Given the description of an element on the screen output the (x, y) to click on. 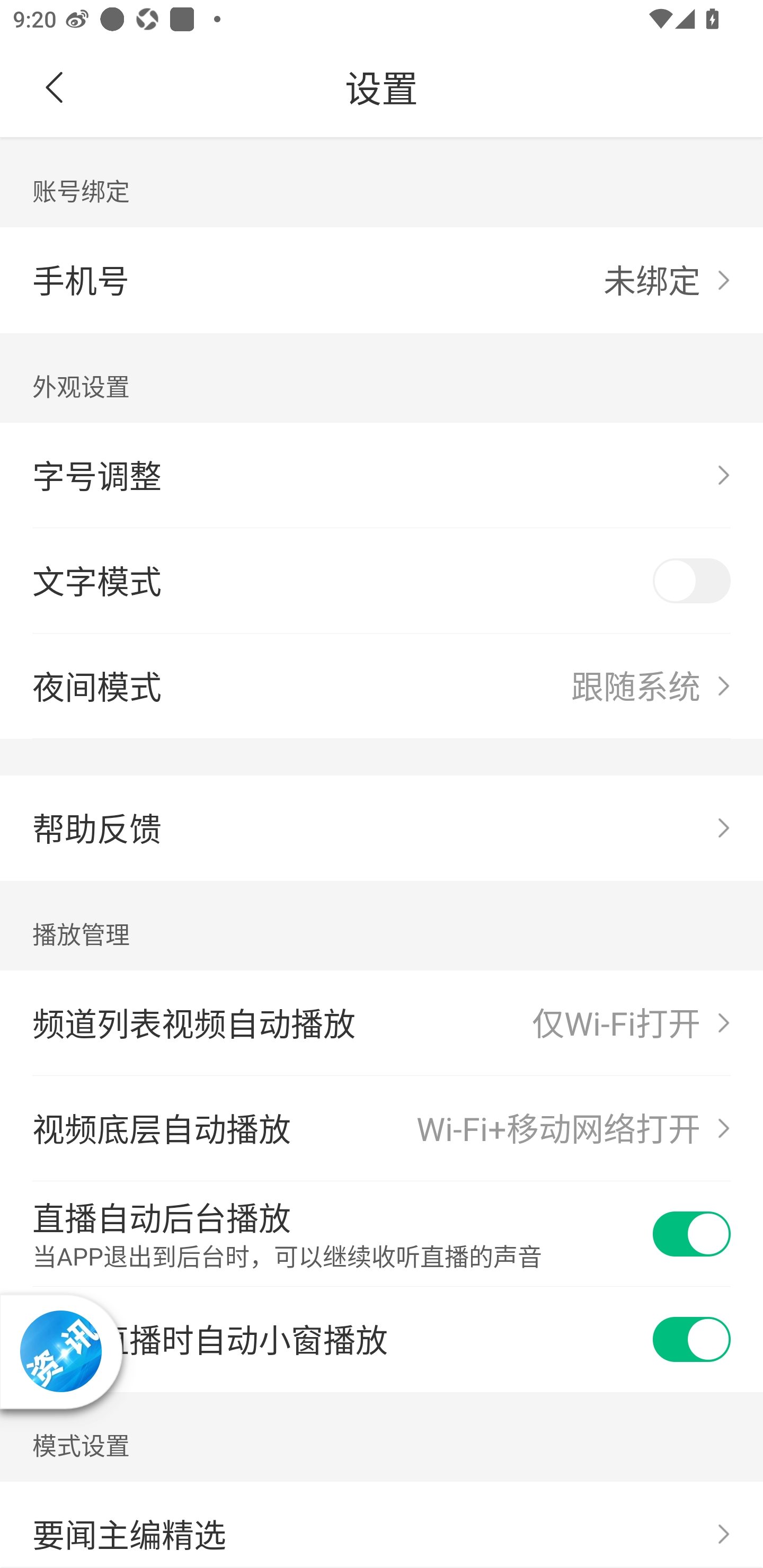
 返回 (54, 87)
手机号 未绑定 (381, 279)
字号调整 (381, 475)
文字模式 (381, 580)
夜间模式 跟随系统 (381, 685)
帮助反馈 (381, 828)
频道列表视频自动播放 仅Wi-Fi打开 (381, 1022)
视频底层自动播放 Wi-Fi+移动网络打开 (381, 1127)
直播自动后台播放 当APP退出到后台时，可以继续收听直播的声音 (381, 1233)
退出直播时自动小窗播放 (381, 1339)
播放器 (61, 1351)
要闻主编精选 (381, 1524)
